Given the description of an element on the screen output the (x, y) to click on. 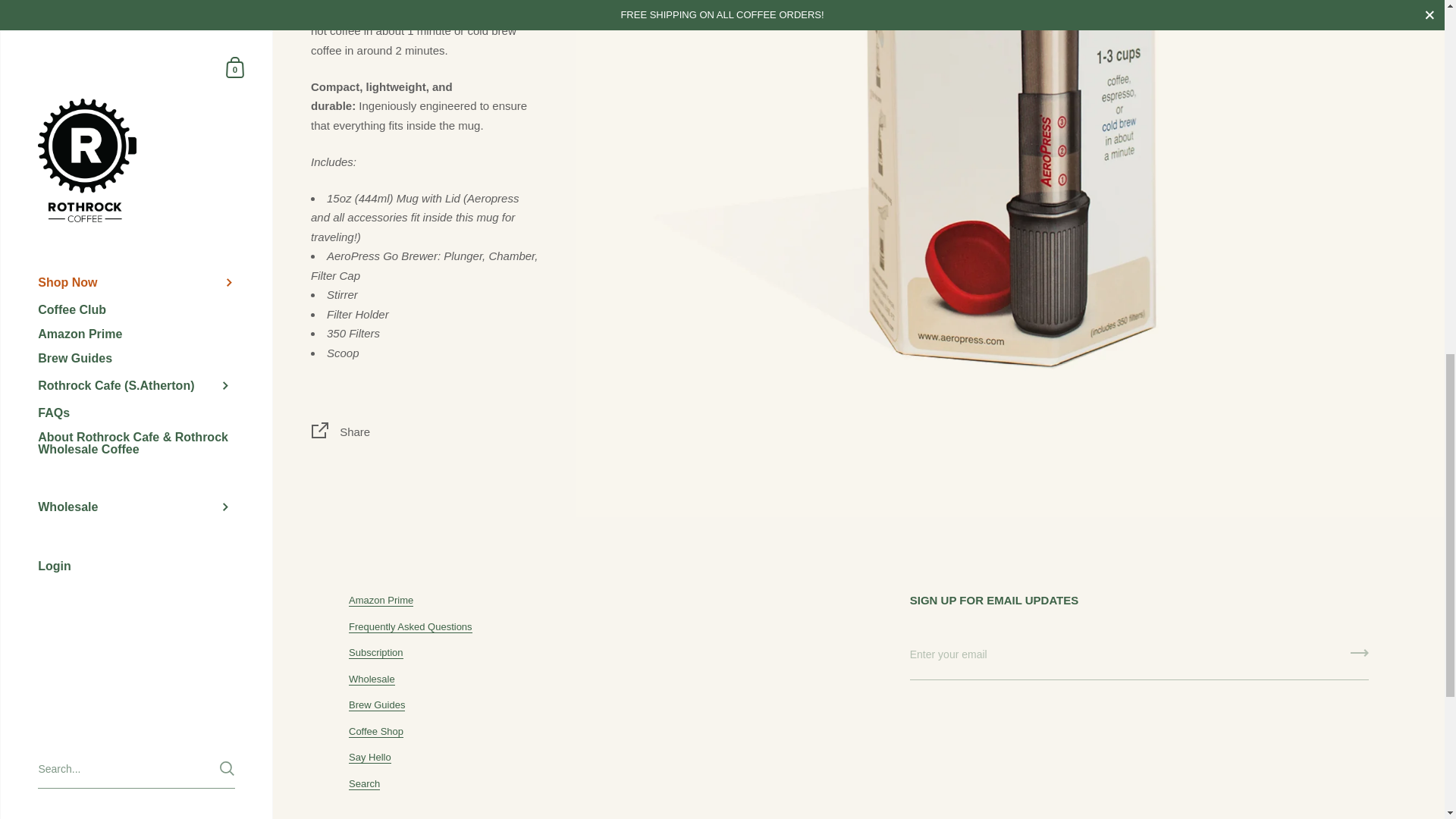
Share (424, 433)
Subscription (376, 653)
Amazon Prime (381, 600)
Frequently Asked Questions (410, 626)
Wholesale (371, 679)
